Given the description of an element on the screen output the (x, y) to click on. 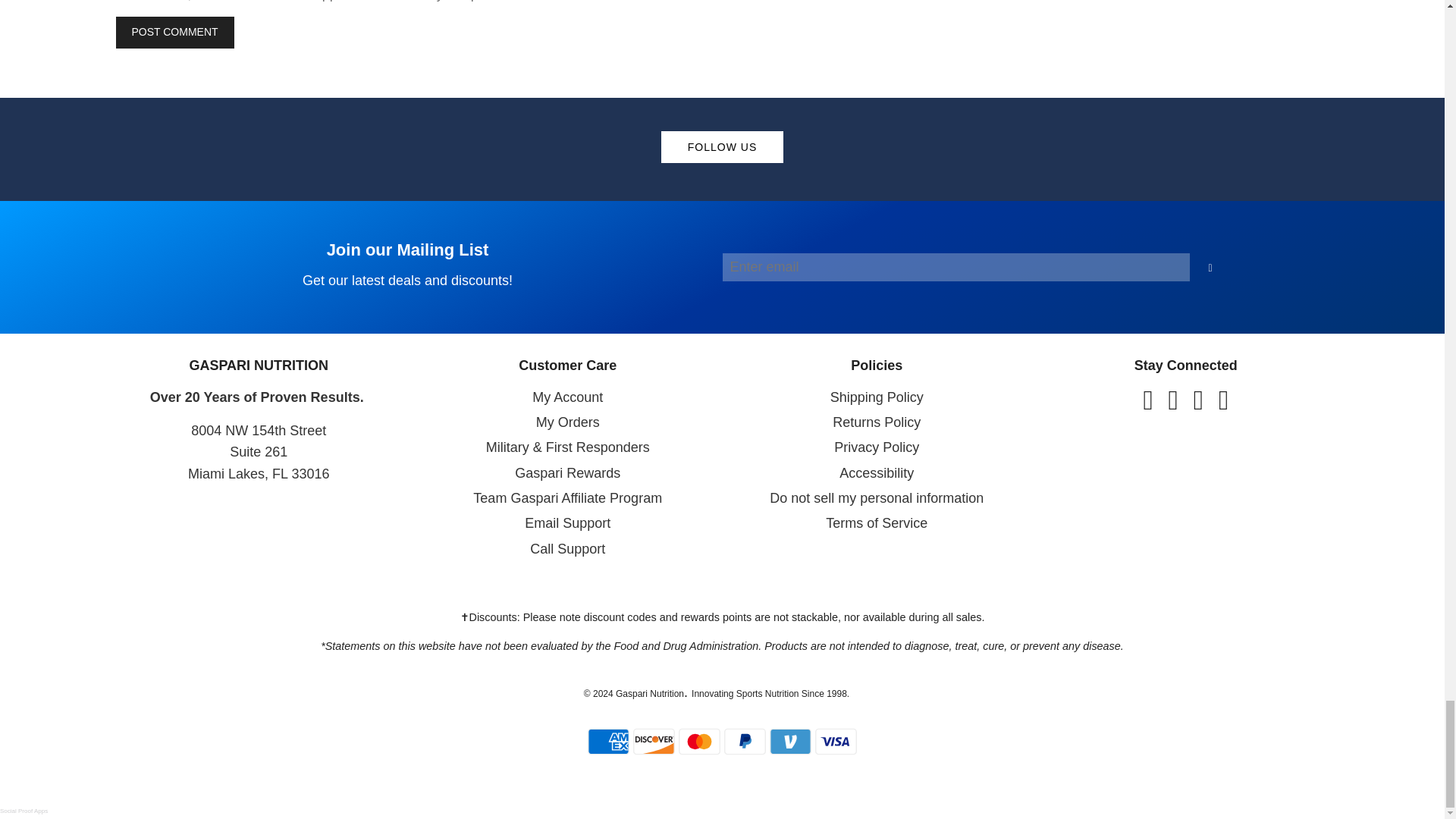
Mastercard (722, 266)
Visa (699, 741)
PayPal (836, 741)
American Express (744, 741)
Discover (608, 741)
Venmo (654, 741)
Post comment (790, 741)
